Given the description of an element on the screen output the (x, y) to click on. 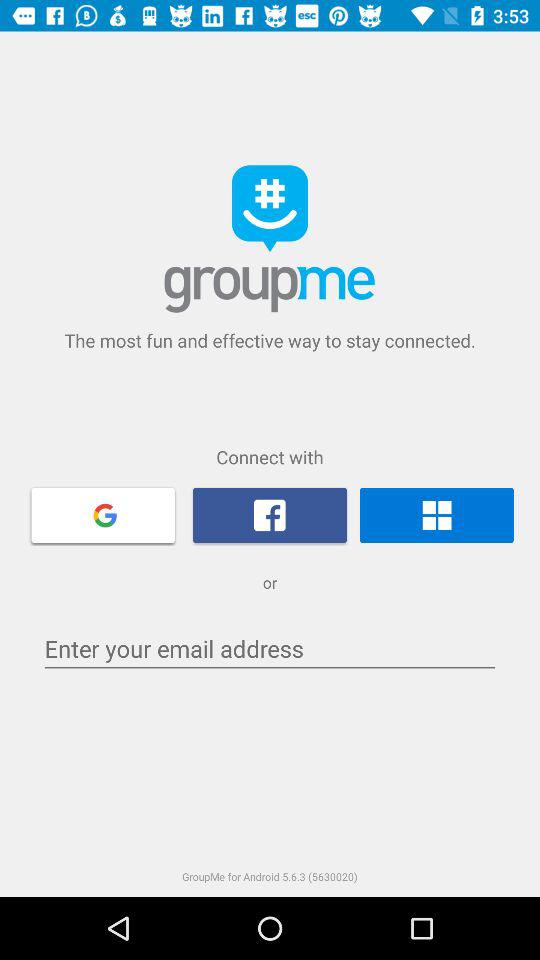
open the item below the or icon (269, 648)
